Given the description of an element on the screen output the (x, y) to click on. 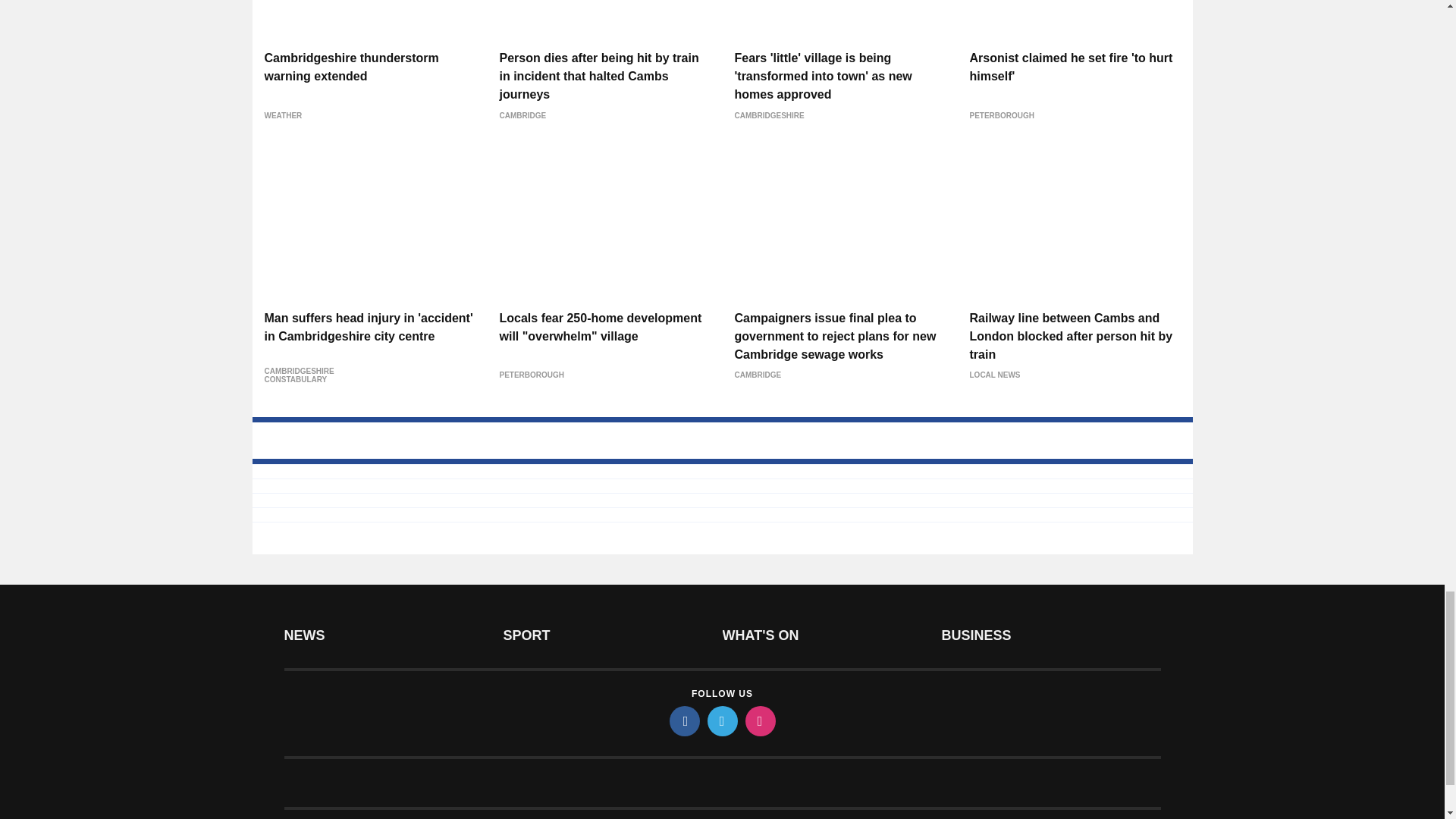
facebook (683, 720)
instagram (759, 720)
twitter (721, 720)
